Given the description of an element on the screen output the (x, y) to click on. 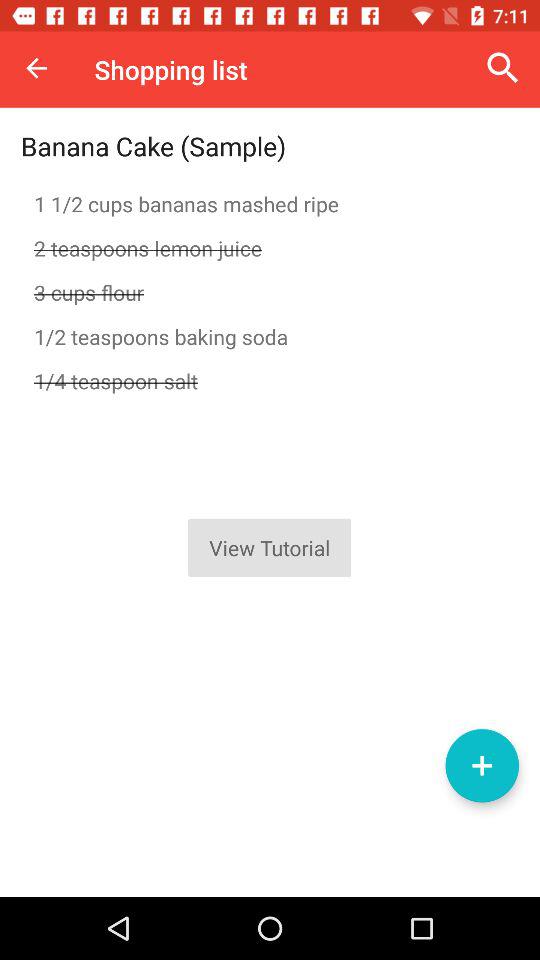
launch the item next to the shopping list (36, 68)
